Given the description of an element on the screen output the (x, y) to click on. 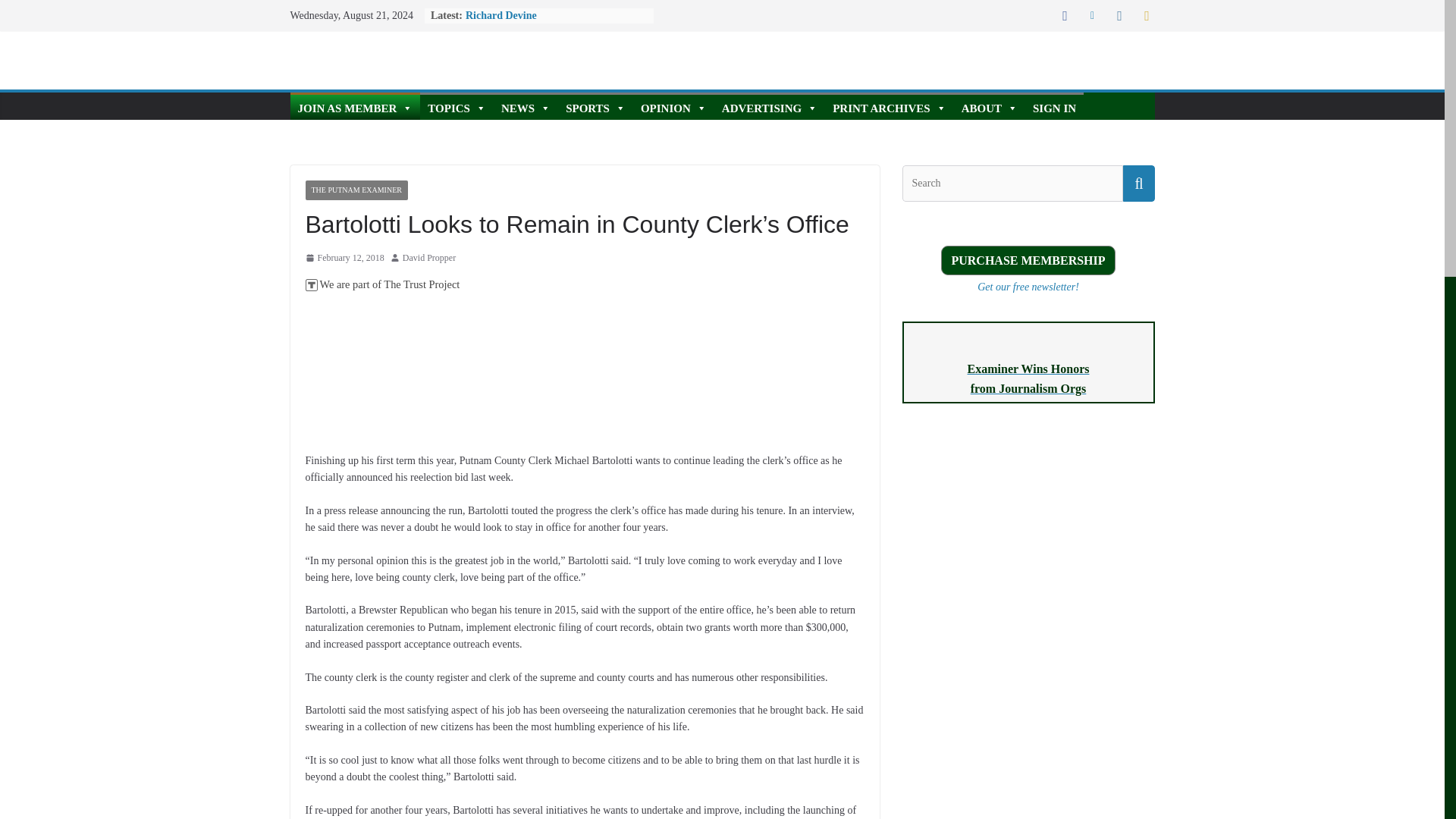
Richard Devine (501, 15)
David Propper (429, 258)
NEWS (525, 105)
1:45 am (344, 258)
JOIN AS MEMBER (354, 105)
Richard Devine (501, 15)
TOPICS (456, 105)
